Given the description of an element on the screen output the (x, y) to click on. 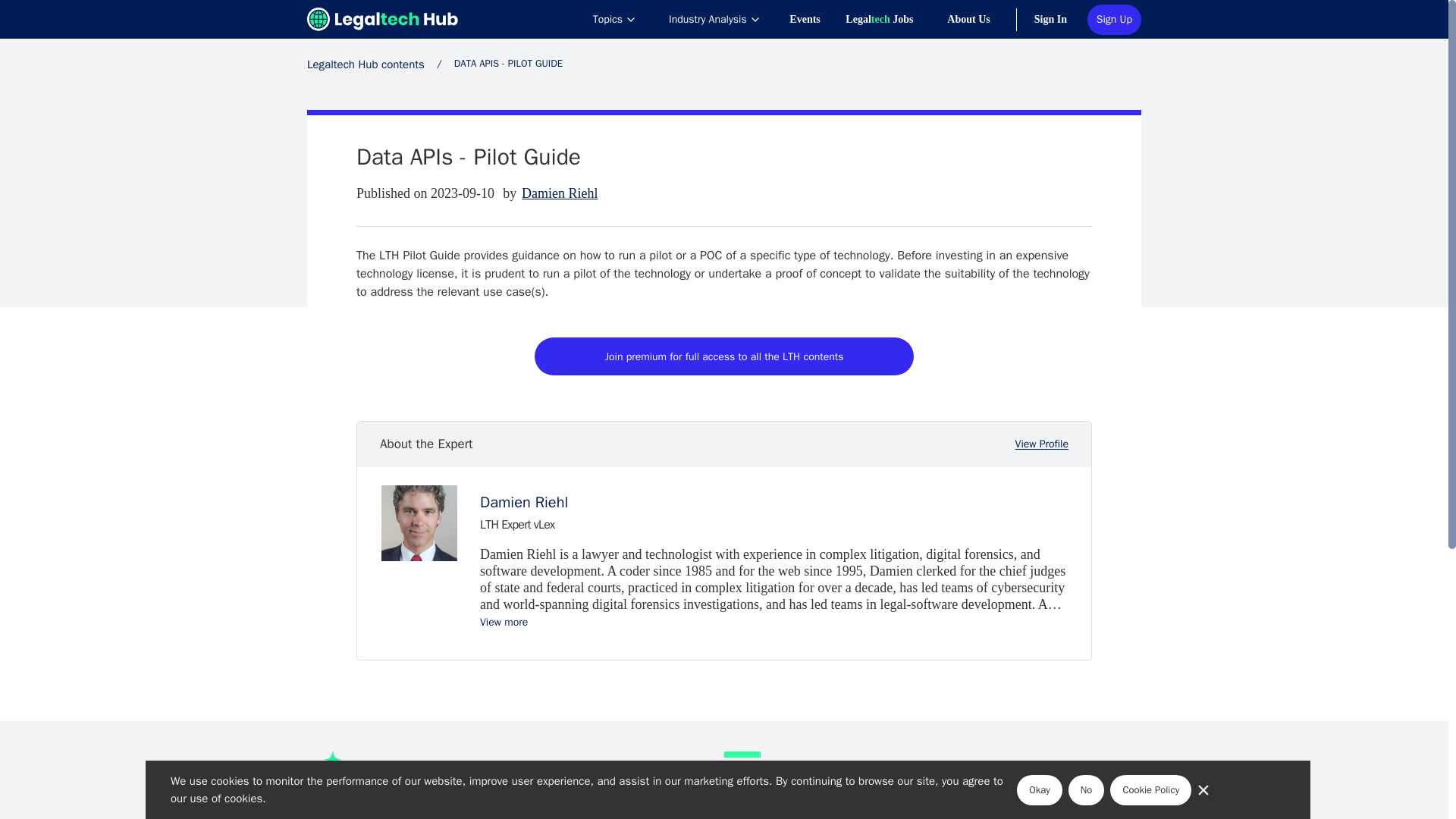
Industry Analysis (714, 19)
Cookie Policy (1150, 789)
Sign Up (1114, 19)
View Profile (1041, 444)
Join premium for full access to all the LTH contents (724, 356)
Events (816, 19)
Topics (614, 19)
No (1086, 789)
Cookie Policy (1149, 789)
About Us (979, 19)
